Given the description of an element on the screen output the (x, y) to click on. 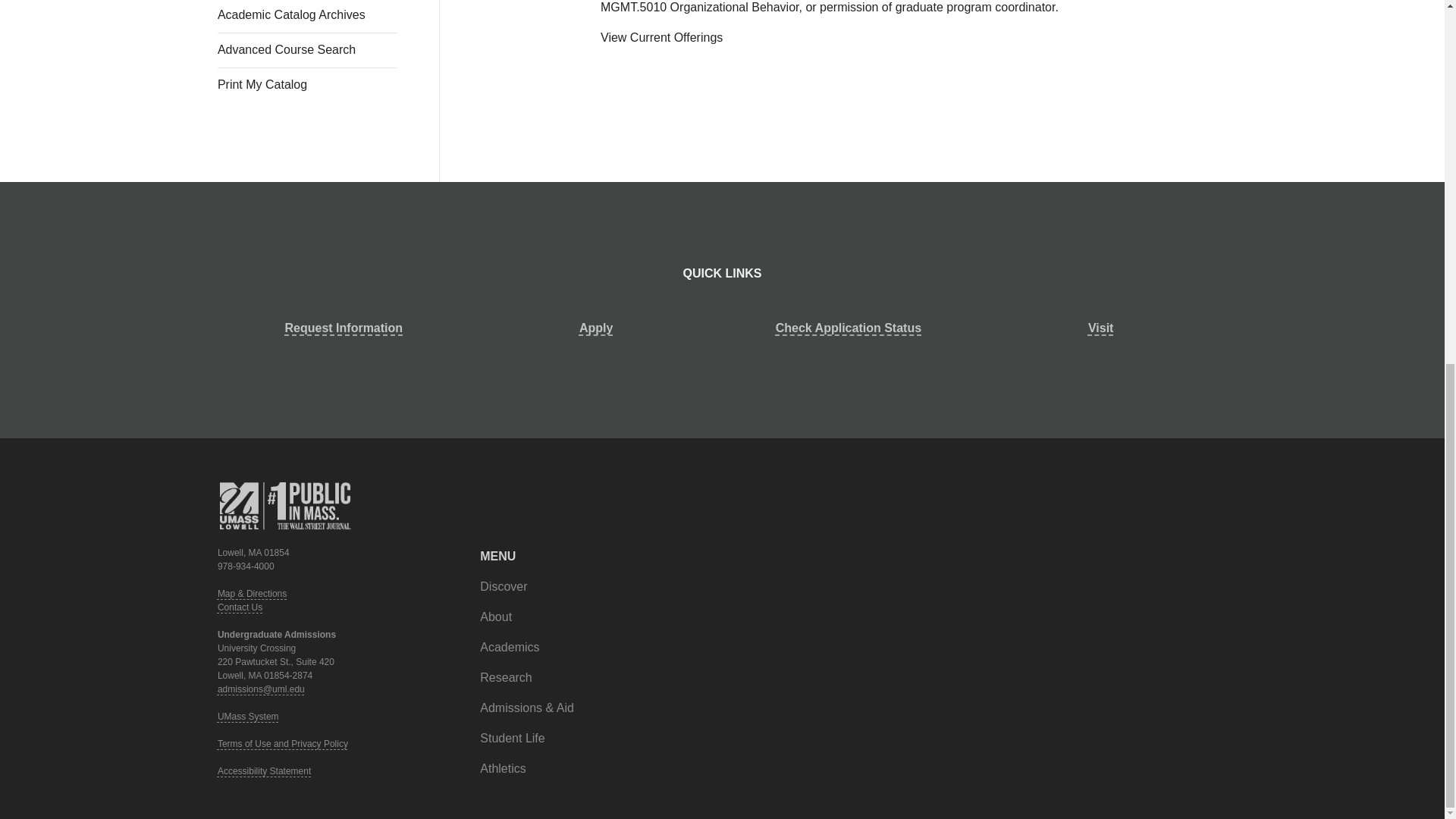
Check Application Status (848, 328)
Visit (1100, 328)
Facebook (1164, 480)
Youtube (1195, 480)
Visit (1100, 328)
Apply (596, 328)
TikTok (1149, 480)
Instagram (1211, 480)
Linkedin (1227, 480)
Twitter (1180, 480)
TikTok (1149, 480)
Discover (503, 587)
Check Application Status (848, 328)
Request Information (343, 328)
Academics (509, 647)
